Given the description of an element on the screen output the (x, y) to click on. 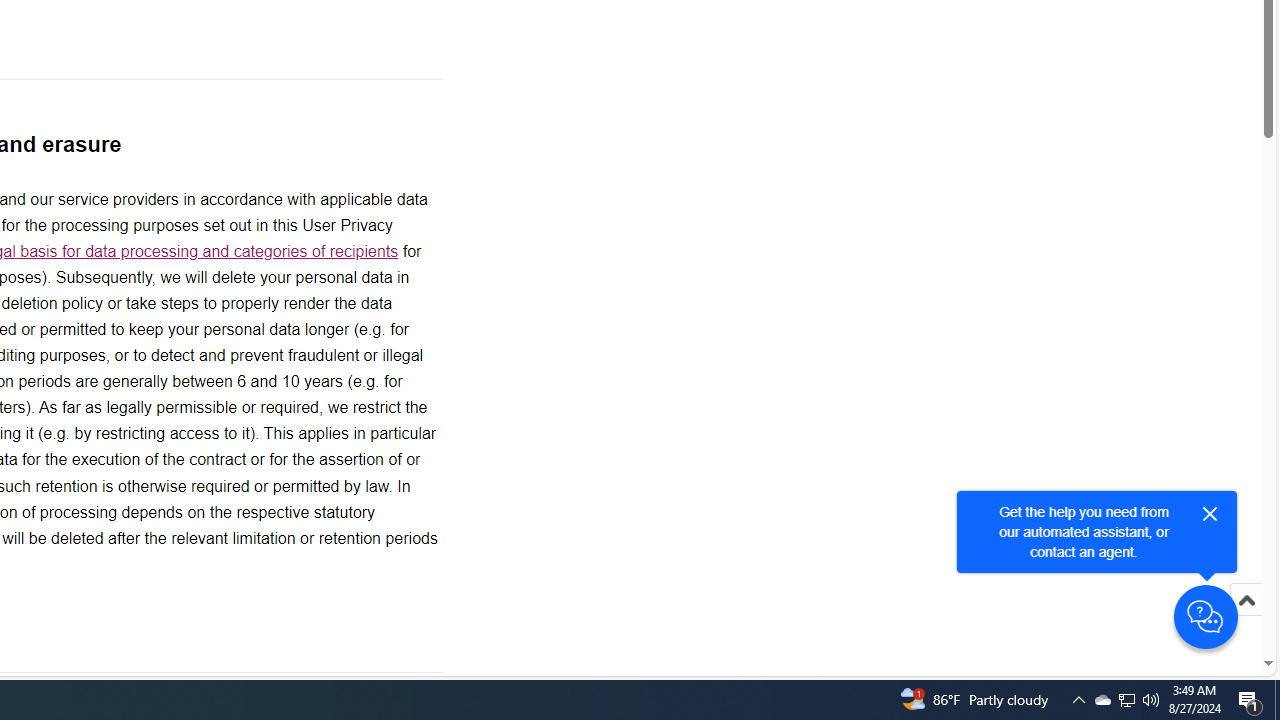
Scroll to top (1246, 620)
Scroll to top (1246, 599)
